Given the description of an element on the screen output the (x, y) to click on. 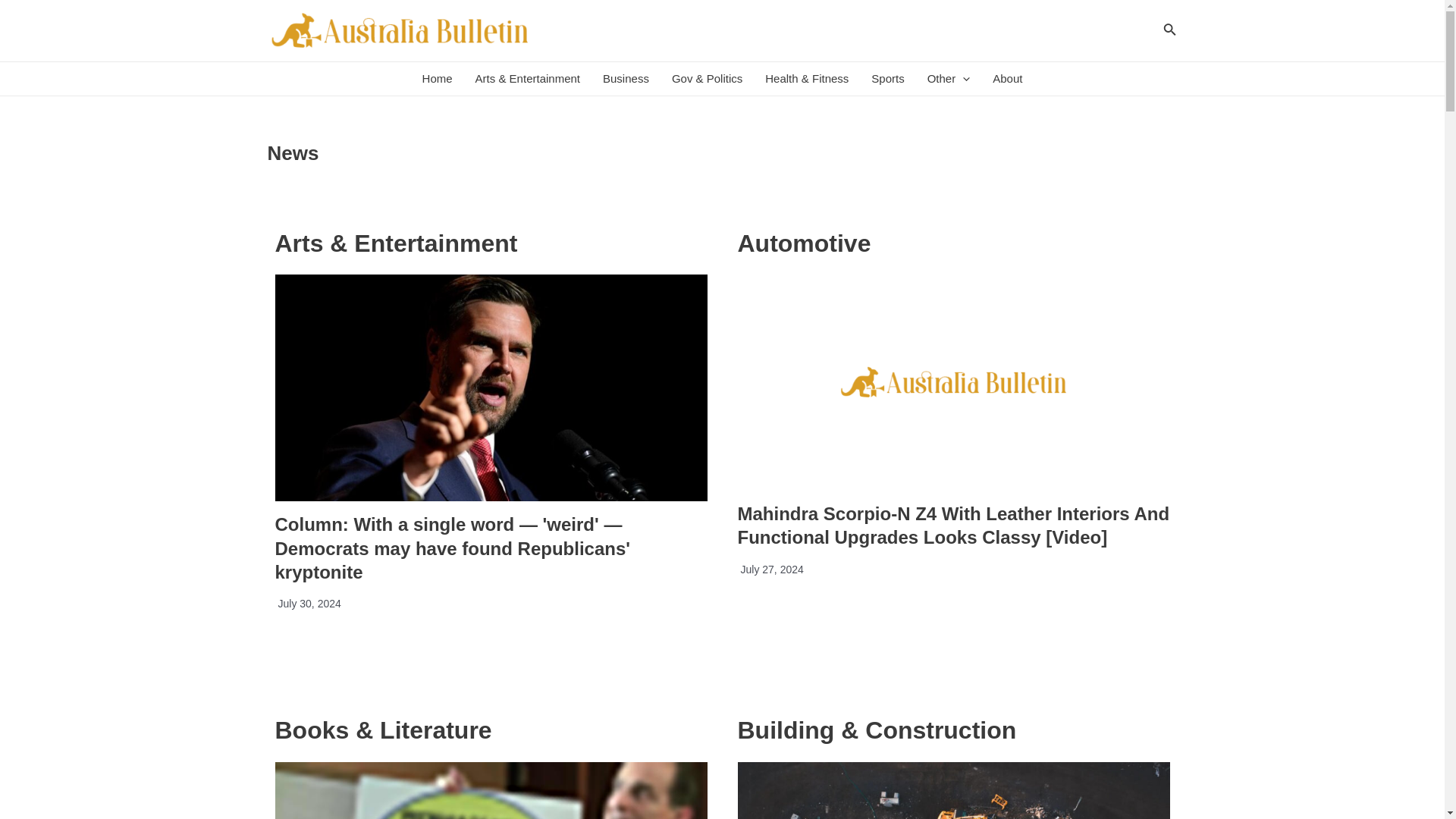
Business (626, 78)
Sports (887, 78)
Other (948, 78)
Home (437, 78)
About (1007, 78)
